Given the description of an element on the screen output the (x, y) to click on. 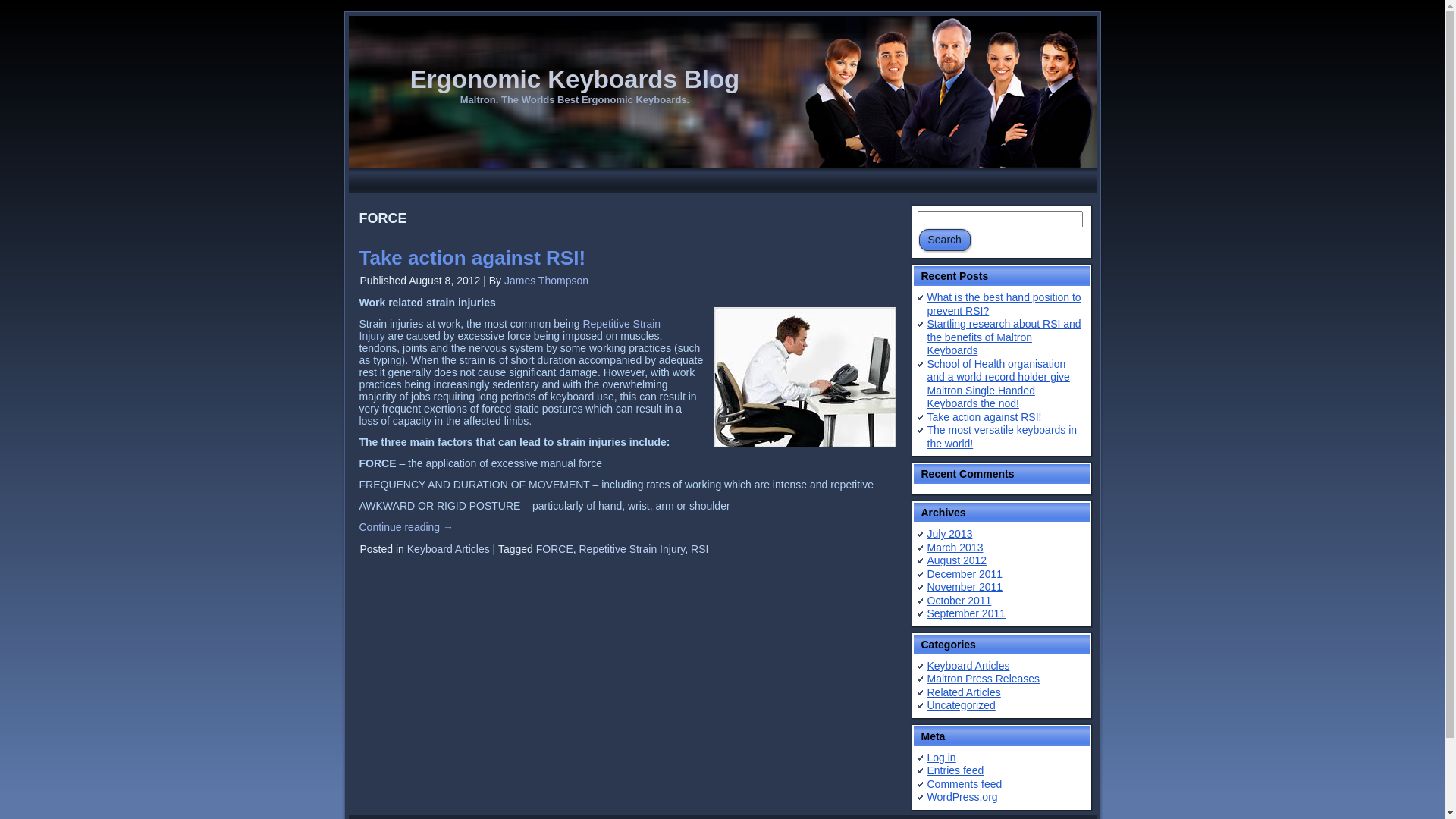
keyboard posture Element type: hover (805, 377)
Related Articles Element type: text (963, 691)
Repetitive Strain Injury Element type: text (510, 329)
Log in Element type: text (940, 756)
What is the best hand position to prevent RSI? Element type: text (1003, 303)
Keyboard Articles Element type: text (967, 665)
Ergonomic Keyboards Blog Element type: text (575, 79)
March 2013 Element type: text (954, 547)
July 2013 Element type: text (949, 533)
November 2011 Element type: text (964, 586)
The most versatile keyboards in the world! Element type: text (1001, 436)
James Thompson Element type: text (546, 280)
August 2012 Element type: text (956, 560)
October 2011 Element type: text (958, 600)
FORCE Element type: text (554, 548)
Uncategorized Element type: text (960, 705)
Keyboard Articles Element type: text (448, 548)
Comments feed Element type: text (963, 784)
Take action against RSI! Element type: text (472, 257)
RSI Element type: text (699, 548)
September 2011 Element type: text (965, 613)
Repetitive Strain Injury Element type: text (632, 548)
Search Element type: text (944, 239)
December 2011 Element type: text (964, 573)
Entries feed Element type: text (954, 770)
Take action against RSI! Element type: text (983, 417)
Maltron Press Releases Element type: text (982, 678)
WordPress.org Element type: text (961, 796)
